Given the description of an element on the screen output the (x, y) to click on. 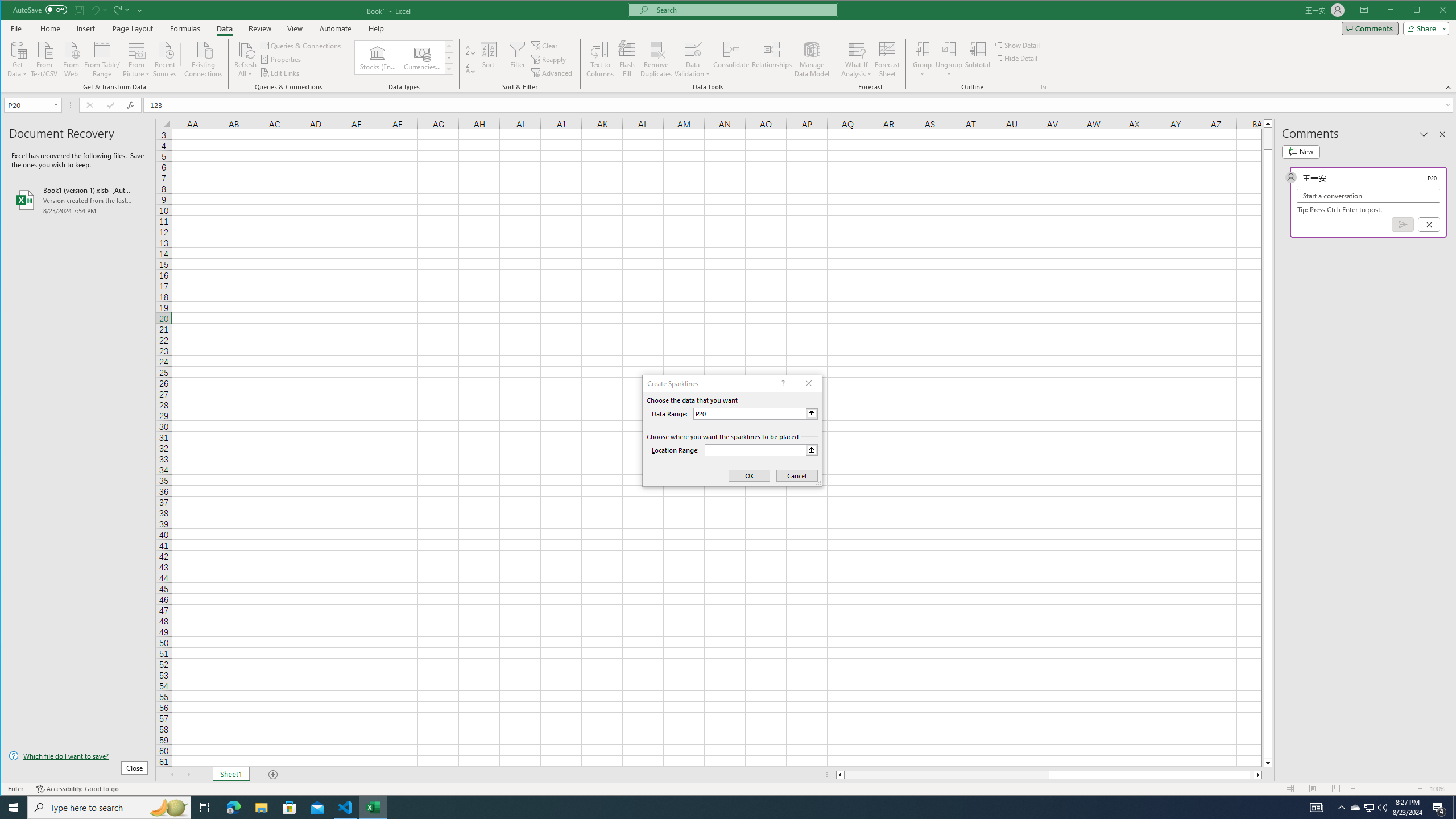
Post comment (Ctrl + Enter) (1402, 224)
Ungroup... (948, 59)
Page right (1251, 774)
From Text/CSV (44, 57)
AutoSave (39, 9)
Close pane (1441, 133)
Data Validation... (691, 48)
Refresh All (244, 59)
Accessibility Checker Accessibility: Good to go (77, 788)
